Given the description of an element on the screen output the (x, y) to click on. 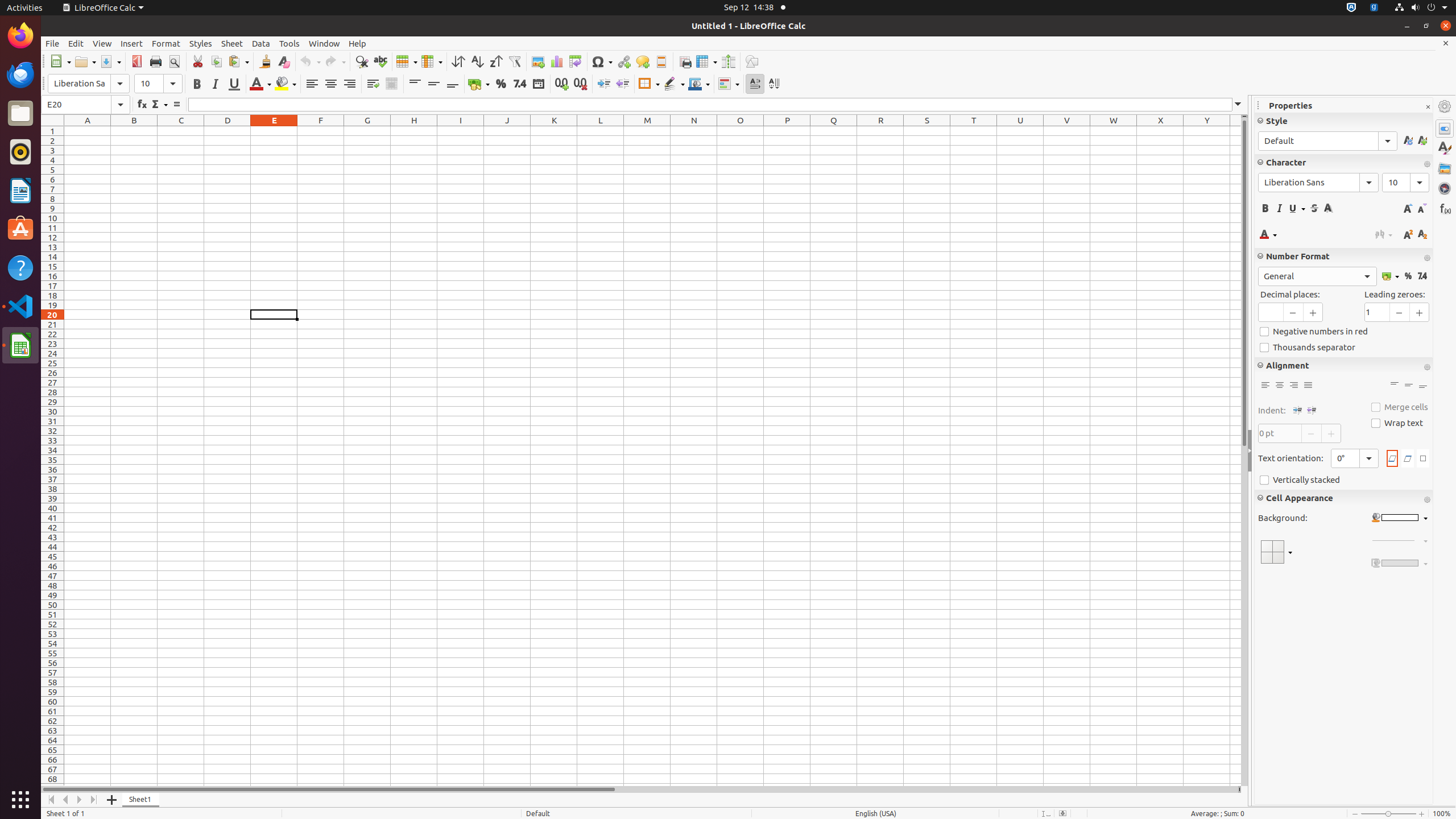
Sheet Sheet1 Element type: table (652, 456)
Borders (Shift to overwrite) Element type: push-button (648, 83)
W1 Element type: table-cell (1113, 130)
H1 Element type: table-cell (413, 130)
